Given the description of an element on the screen output the (x, y) to click on. 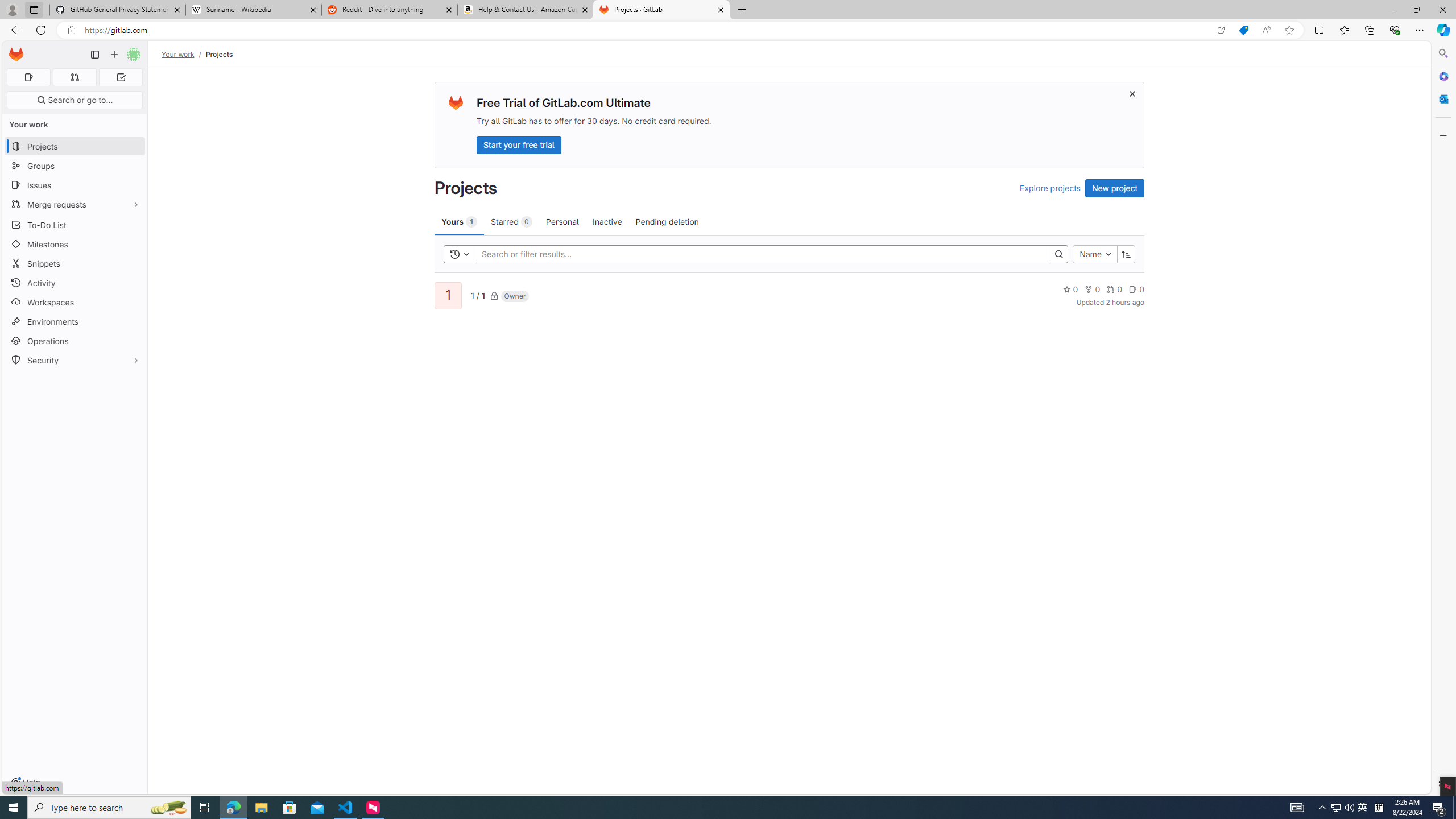
Class: s16 (494, 295)
Your work (178, 53)
Class: s16 gl-icon gl-button-icon  (1132, 93)
Help (25, 782)
Primary navigation sidebar (94, 54)
Create new... (113, 54)
0 (1136, 288)
Homepage (16, 54)
